Given the description of an element on the screen output the (x, y) to click on. 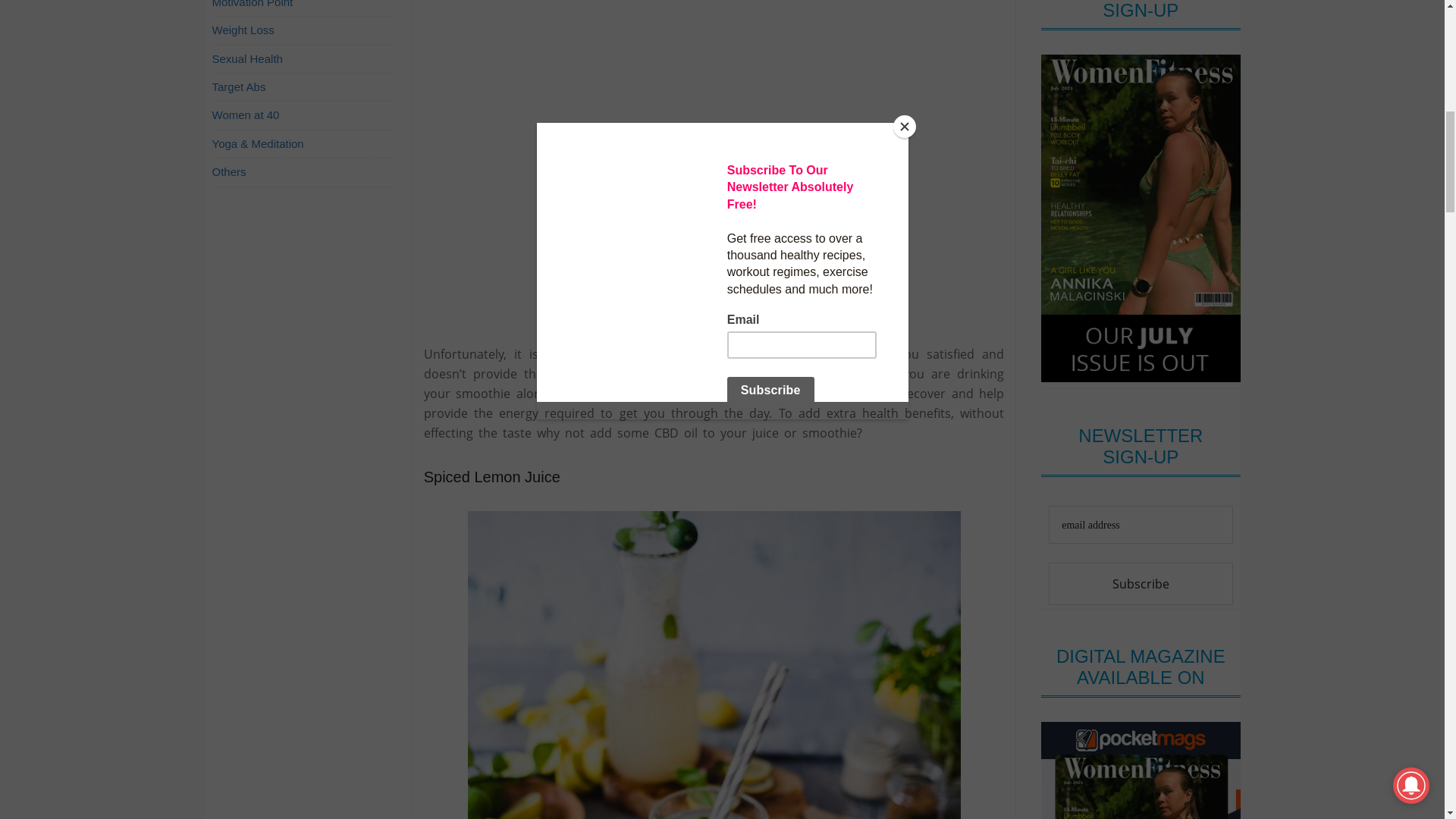
healthy balanced diet (813, 373)
Subscribe (1139, 583)
Subscribe (1139, 583)
